Given the description of an element on the screen output the (x, y) to click on. 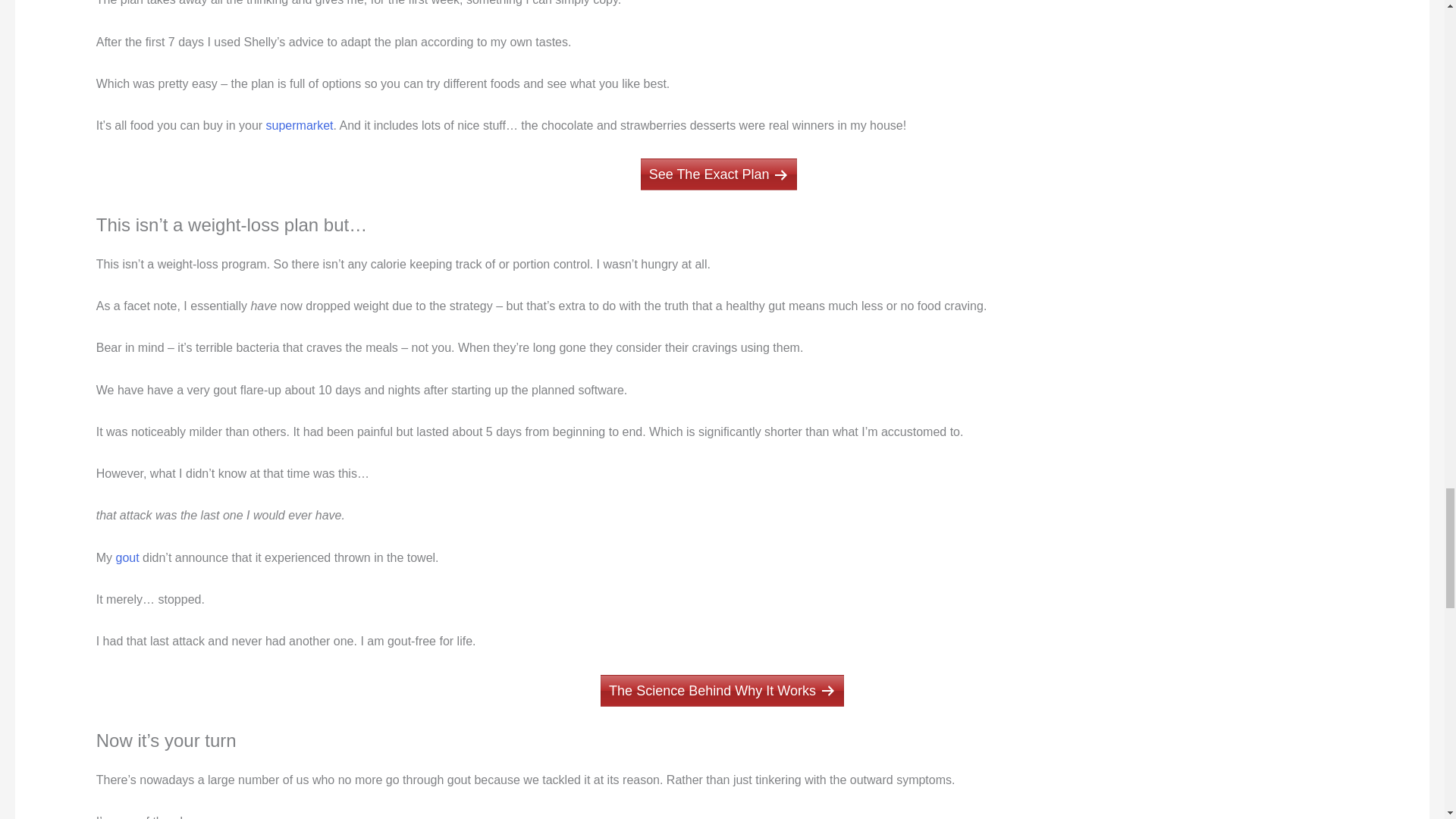
gout (126, 557)
See The Exact Plan (718, 174)
supermarket (299, 124)
The Science Behind Why It Works (721, 690)
